Given the description of an element on the screen output the (x, y) to click on. 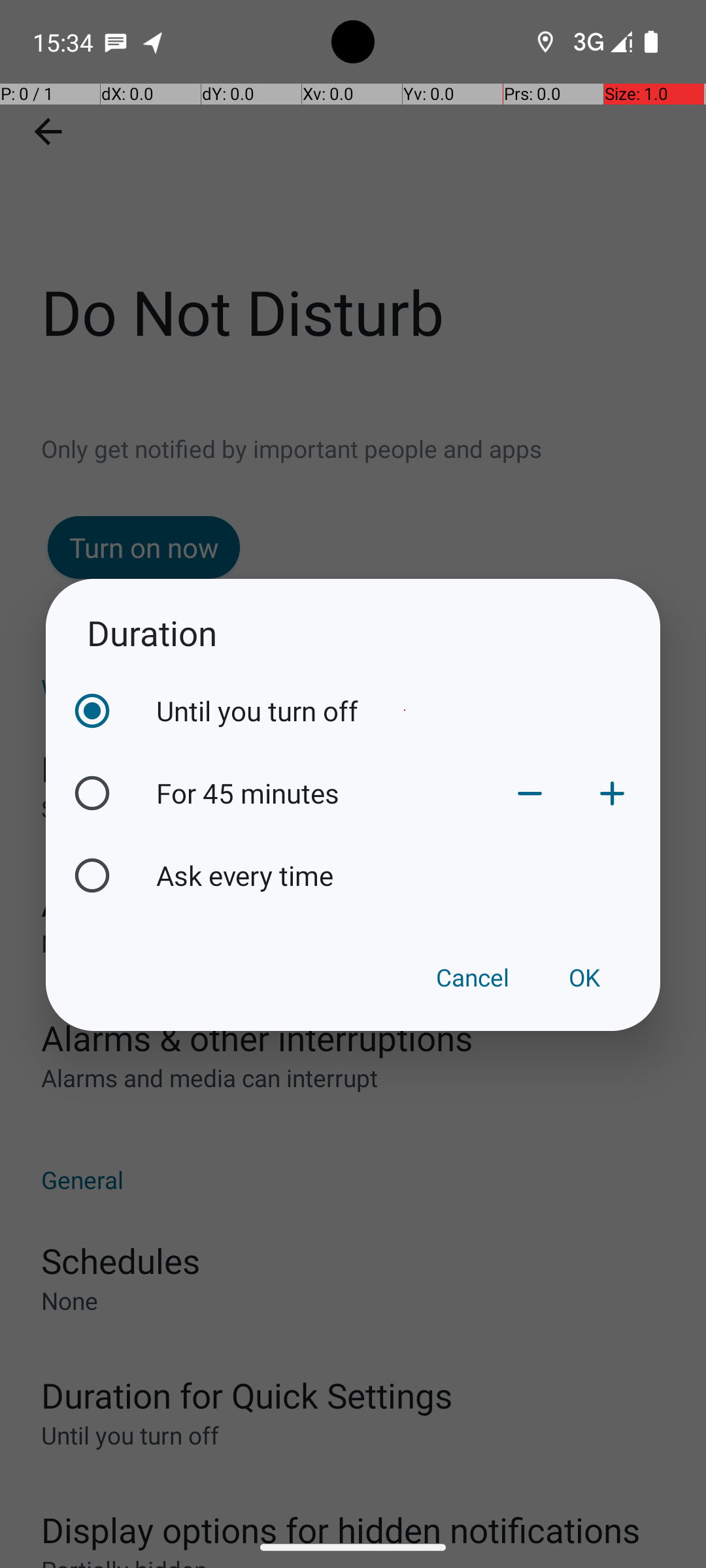
Duration Element type: android.widget.TextView (352, 632)
Less time. Element type: android.widget.ImageView (529, 792)
More time. Element type: android.widget.ImageView (611, 792)
Until you turn off Element type: android.widget.TextView (404, 710)
For 45 minutes Element type: android.widget.TextView (322, 792)
Ask every time Element type: android.widget.TextView (404, 874)
